Given the description of an element on the screen output the (x, y) to click on. 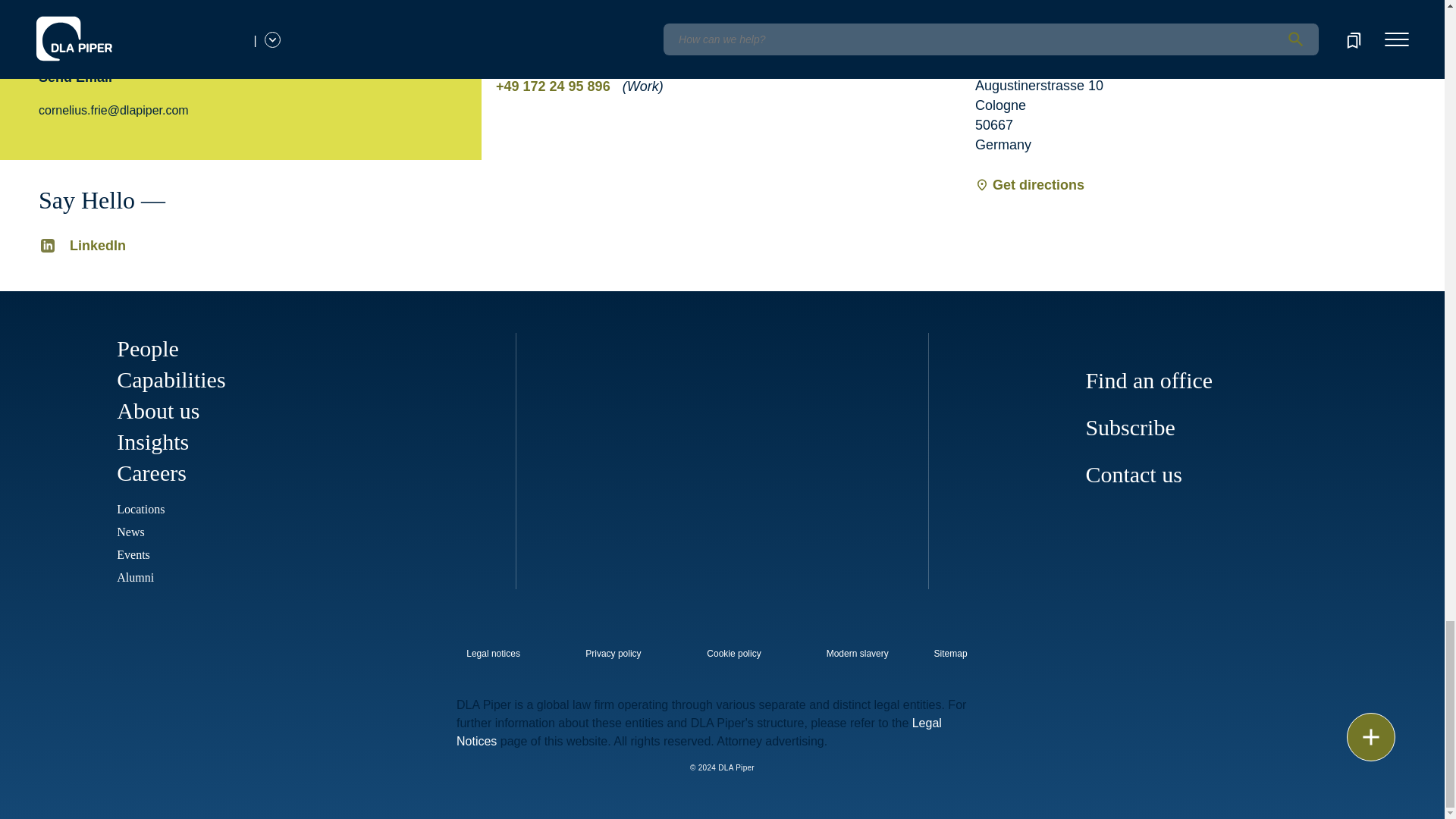
internal (612, 653)
internal (734, 653)
external (960, 649)
internal (493, 653)
internal (857, 653)
